Given the description of an element on the screen output the (x, y) to click on. 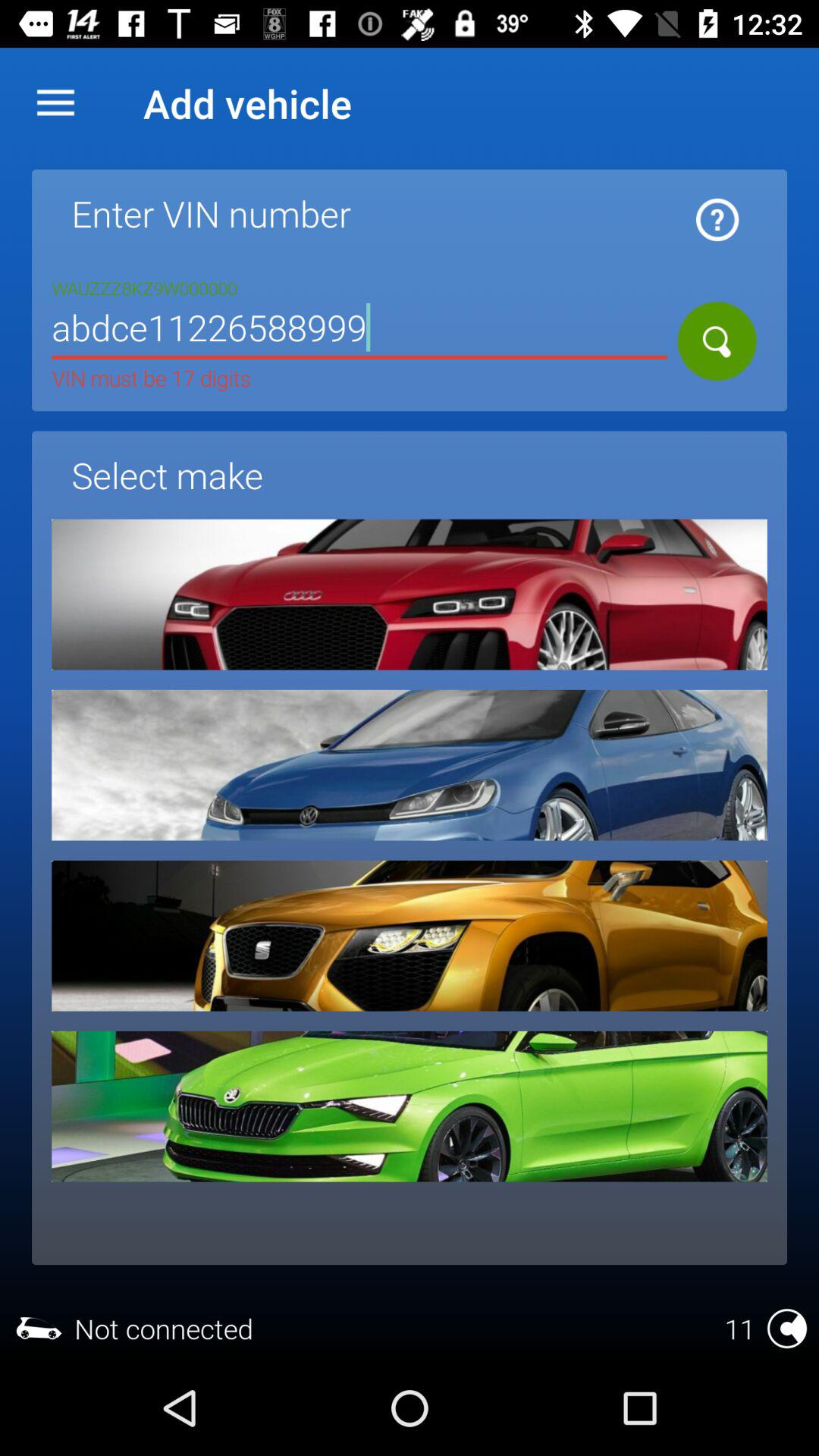
select make (409, 935)
